Given the description of an element on the screen output the (x, y) to click on. 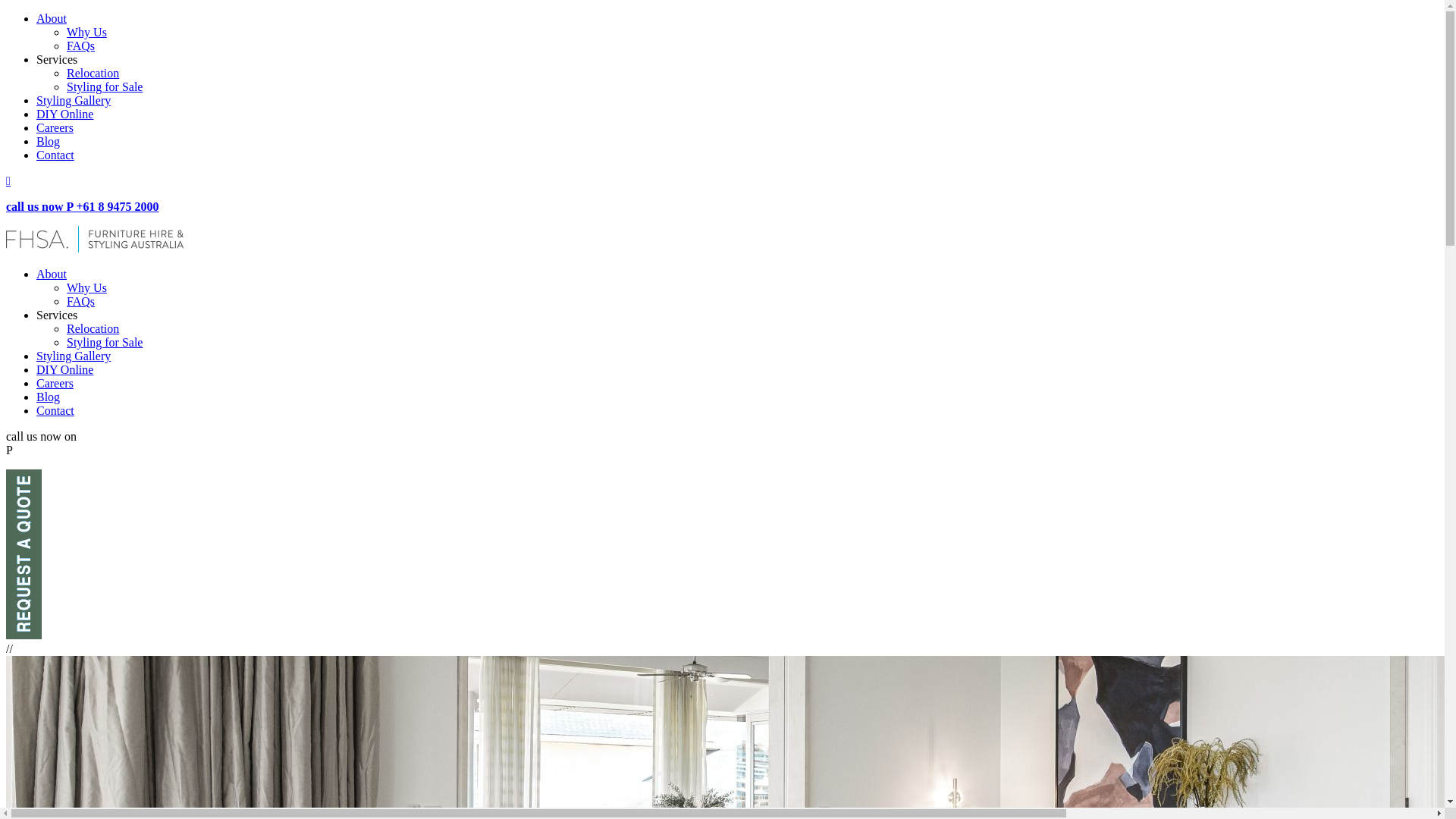
DIY Online Element type: text (64, 113)
+61 8 9475 2000 Element type: text (56, 449)
call us now P +61 8 9475 2000 Element type: text (82, 206)
Styling Gallery Element type: text (73, 100)
FAQs Element type: text (80, 300)
Contact Element type: text (55, 410)
Relocation Element type: text (92, 328)
Styling for Sale Element type: text (104, 86)
DIY Online Element type: text (64, 369)
Styling Gallery Element type: text (73, 355)
Services Element type: text (56, 314)
Services Element type: text (56, 59)
Blog Element type: text (47, 396)
About Element type: text (51, 18)
Why Us Element type: text (86, 287)
Careers Element type: text (54, 127)
Careers Element type: text (54, 382)
Blog Element type: text (47, 140)
FAQs Element type: text (80, 45)
Styling for Sale Element type: text (104, 341)
Why Us Element type: text (86, 31)
Relocation Element type: text (92, 72)
About Element type: text (51, 273)
Contact Element type: text (55, 154)
